Given the description of an element on the screen output the (x, y) to click on. 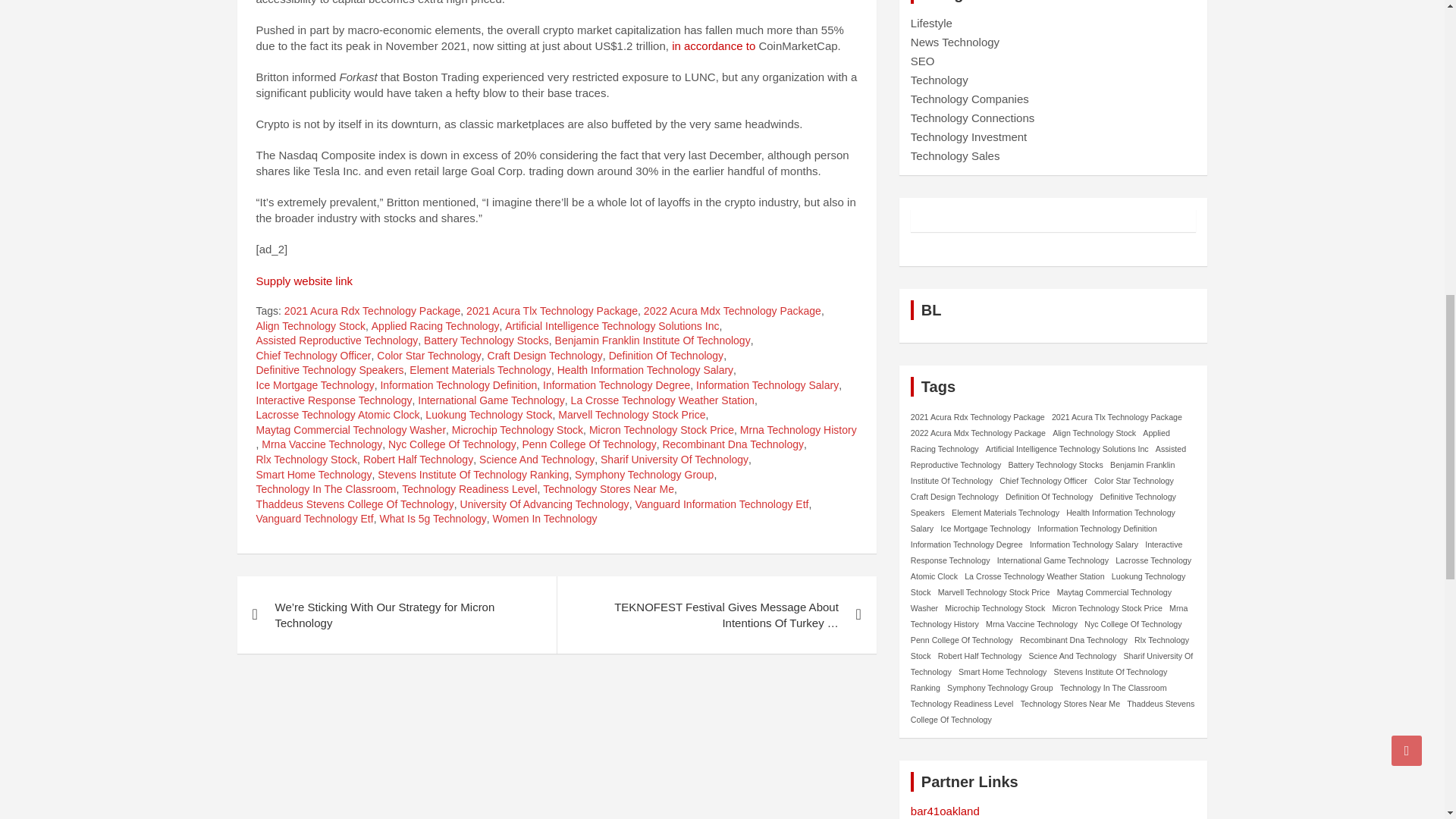
Applied Racing Technology (435, 326)
2022 Acura Mdx Technology Package (732, 311)
Assisted Reproductive Technology (337, 340)
Chief Technology Officer (313, 355)
Color Star Technology (428, 355)
Benjamin Franklin Institute Of Technology (652, 340)
Craft Design Technology (544, 355)
Align Technology Stock (311, 326)
Supply website link (304, 280)
in accordance to (711, 45)
